Given the description of an element on the screen output the (x, y) to click on. 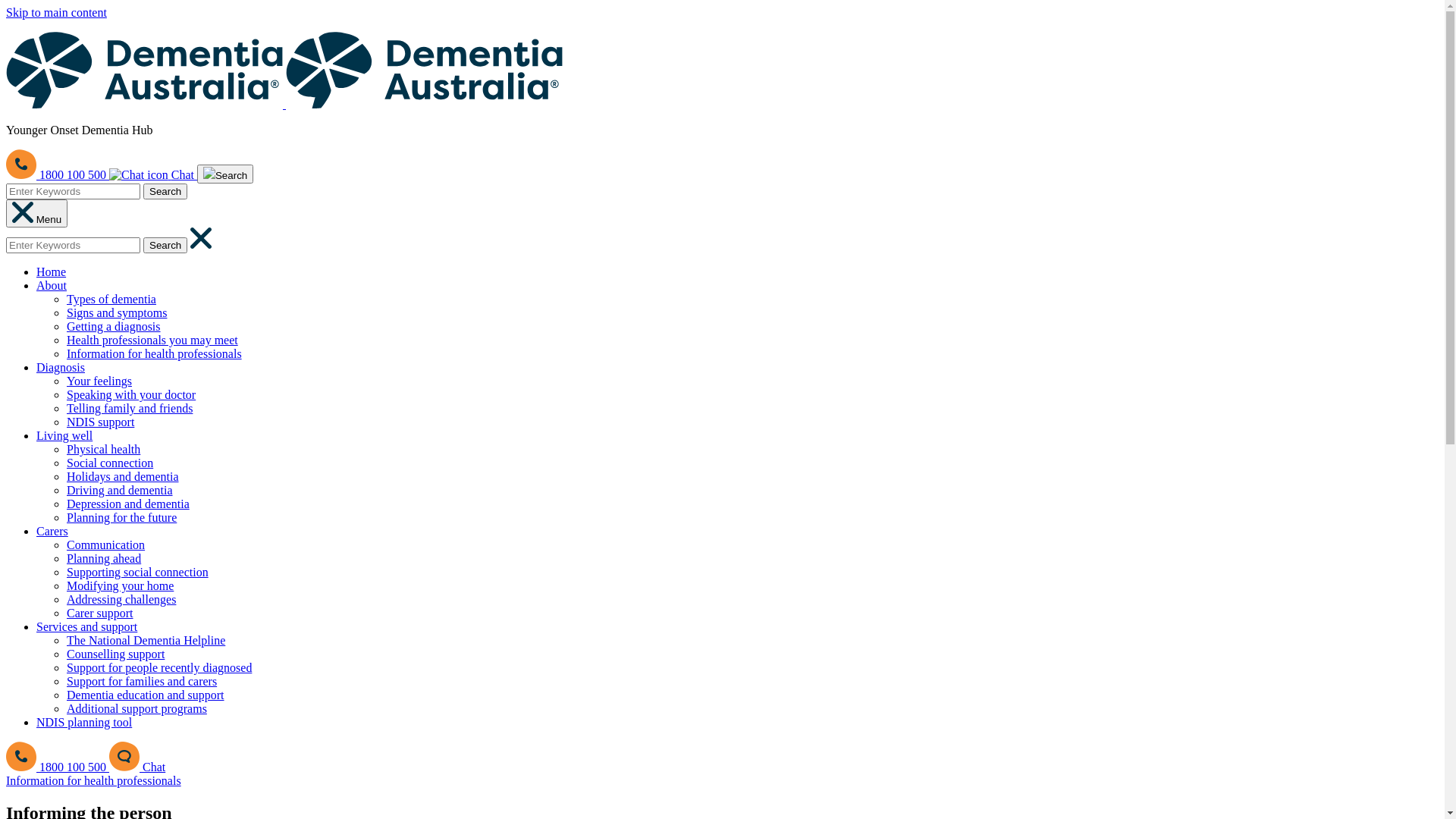
Carer support Element type: text (99, 612)
The National Dementia Helpline Element type: text (145, 639)
Information for health professionals Element type: text (153, 353)
Chat Element type: text (153, 174)
Speaking with your doctor Element type: text (130, 394)
Support for families and carers Element type: text (141, 680)
Types of dementia Element type: text (111, 298)
Depression and dementia Element type: text (127, 503)
NDIS support Element type: text (100, 421)
Services and support Element type: text (86, 626)
1800 100 500 Element type: text (57, 174)
Telling family and friends Element type: text (129, 407)
Home Element type: text (50, 271)
Addressing challenges Element type: text (120, 599)
Search Element type: text (165, 245)
Holidays and dementia Element type: text (122, 476)
Planning for the future Element type: text (121, 517)
Counselling support Element type: text (115, 653)
Information for health professionals Element type: text (93, 780)
1800 100 500 Element type: text (57, 766)
Supporting social connection Element type: text (137, 571)
Additional support programs Element type: text (136, 708)
Diagnosis Element type: text (60, 366)
Physical health Element type: text (103, 448)
Social connection Element type: text (109, 462)
Signs and symptoms Element type: text (116, 312)
Communication Element type: text (105, 544)
Carers Element type: text (52, 530)
Living well Element type: text (64, 435)
About Element type: text (51, 285)
Health professionals you may meet Element type: text (152, 339)
Dementia education and support Element type: text (145, 694)
Menu Element type: text (36, 213)
Getting a diagnosis Element type: text (113, 326)
Modifying your home Element type: text (119, 585)
NDIS planning tool Element type: text (83, 721)
Your feelings Element type: text (98, 380)
Driving and dementia Element type: text (119, 489)
Support for people recently diagnosed Element type: text (158, 667)
Search Element type: text (165, 191)
Search Element type: text (225, 173)
Chat Element type: text (137, 766)
Planning ahead Element type: text (103, 558)
Skip to main content Element type: text (56, 12)
